Given the description of an element on the screen output the (x, y) to click on. 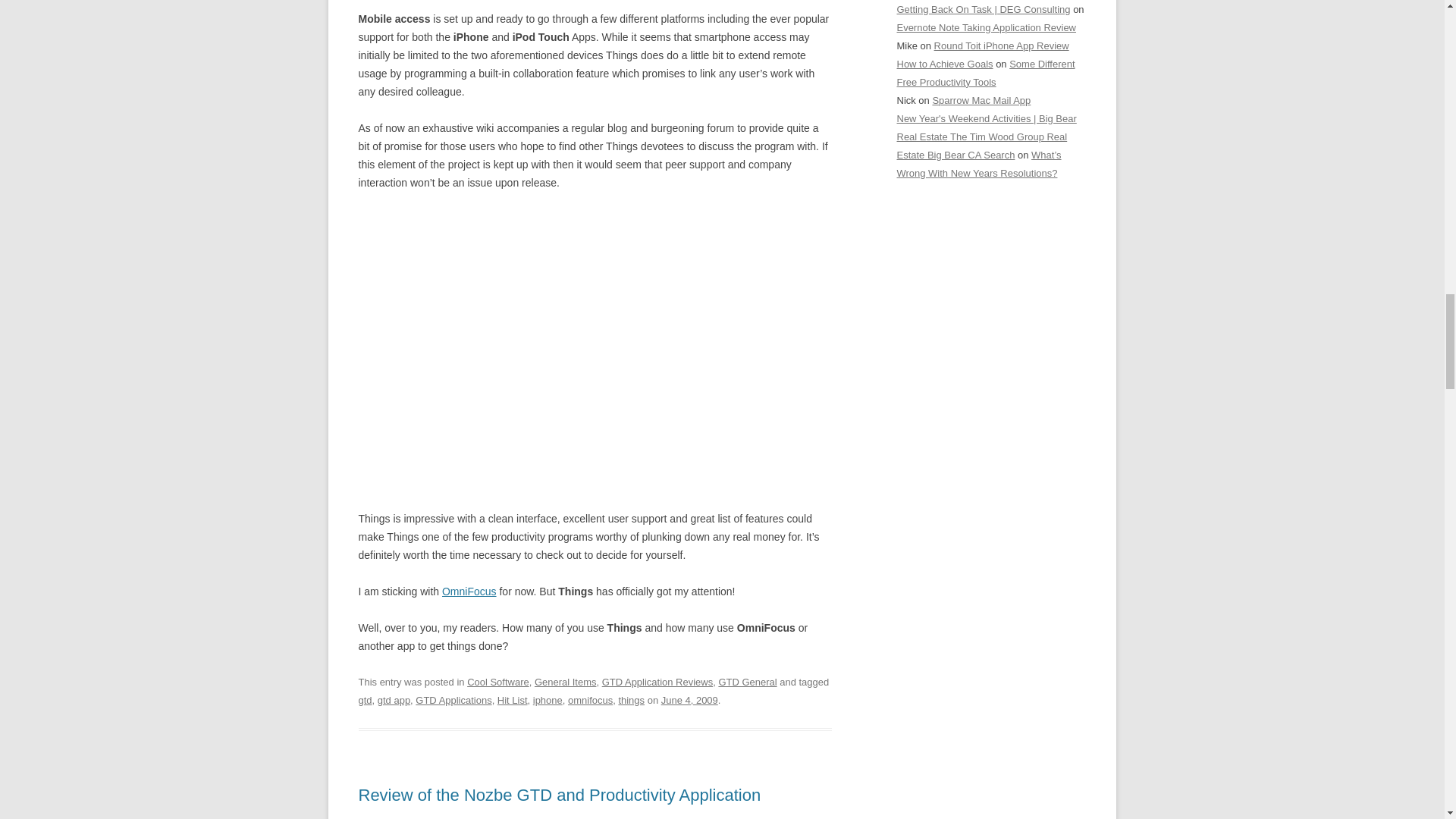
GTD General (746, 681)
gtd (364, 699)
General Items (565, 681)
Cool Software (498, 681)
GTD Application Reviews (657, 681)
5:31 pm (689, 699)
OmniFocus (469, 591)
gtd app (393, 699)
